Given the description of an element on the screen output the (x, y) to click on. 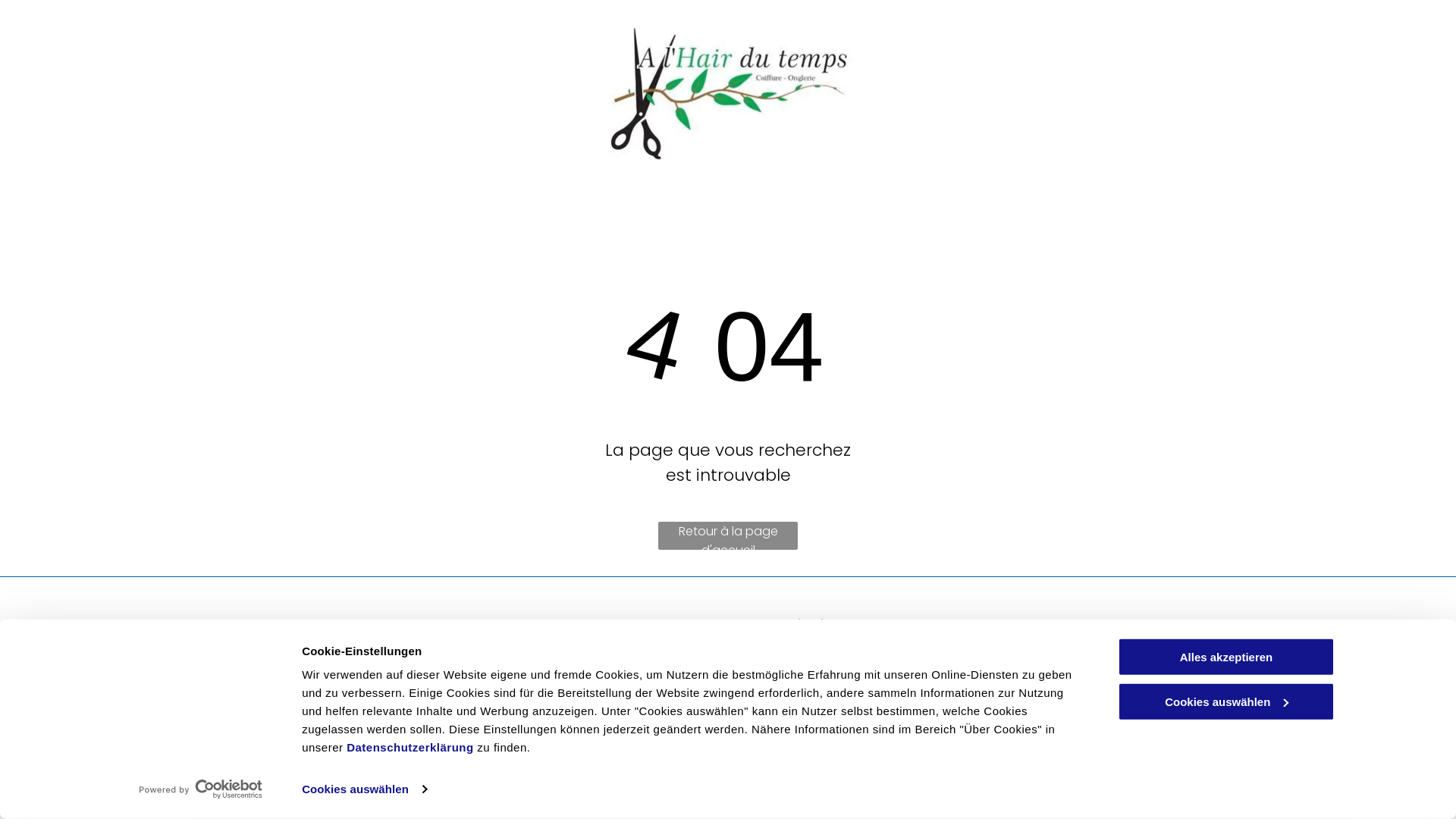
Alles akzeptieren Element type: text (1225, 656)
+41 26 924 61 43 Element type: text (434, 646)
